Given the description of an element on the screen output the (x, y) to click on. 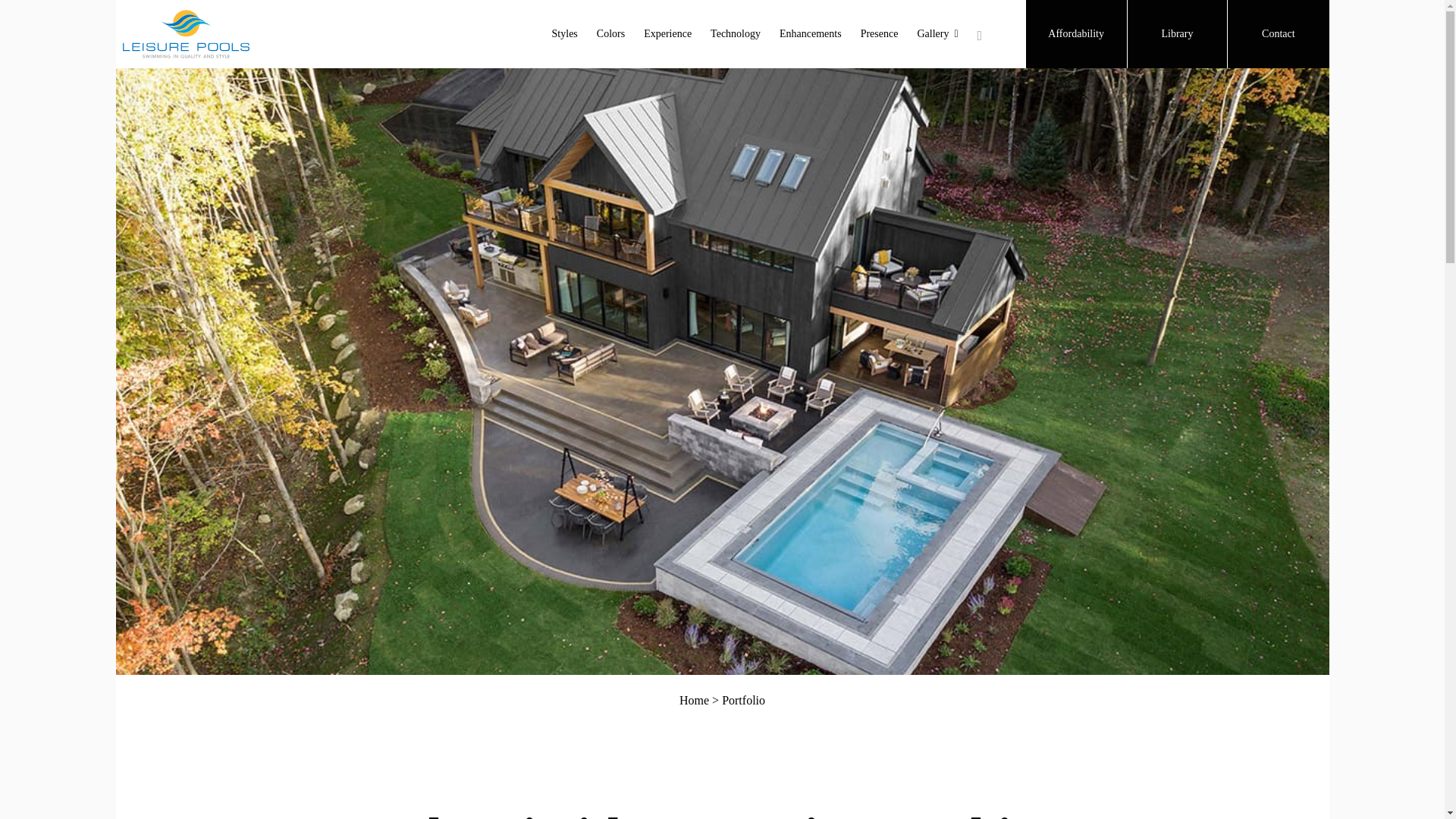
Styles (564, 34)
Gallery (937, 34)
Enhancements (809, 34)
Portfolio (743, 699)
Home (694, 699)
Technology (735, 34)
Experience (667, 34)
Colors (610, 34)
Presence (879, 34)
